Given the description of an element on the screen output the (x, y) to click on. 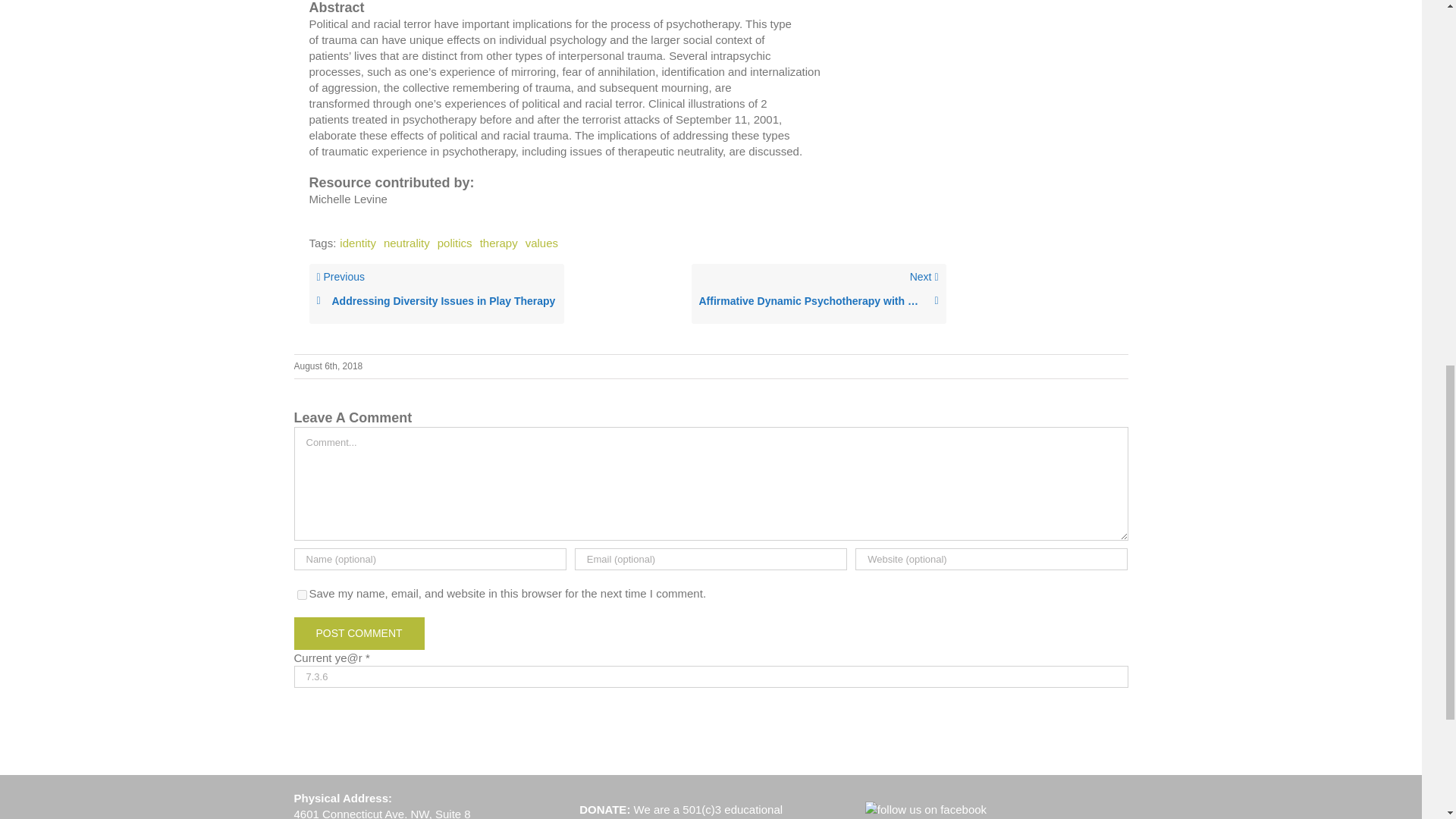
Affirmative Dynamic Psychotherapy with Gay Men (818, 301)
follow us on facebook (925, 809)
Post Comment (359, 633)
yes (302, 594)
7.3.6 (711, 676)
Addressing Diversity Issues in Play Therapy (436, 301)
